Given the description of an element on the screen output the (x, y) to click on. 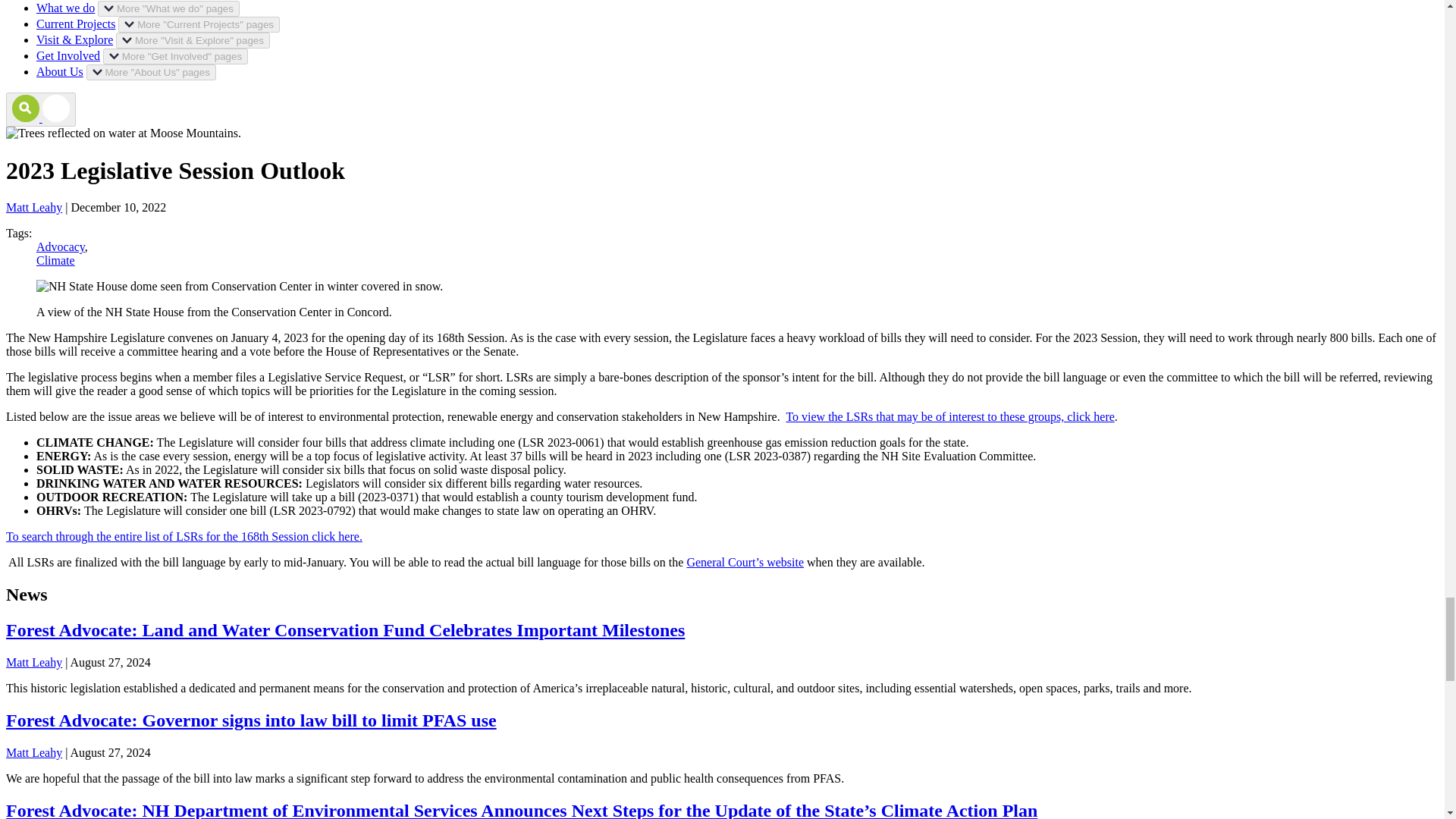
More "Get Involved" pages (175, 56)
More "Current Projects" pages (198, 24)
Get Involved (68, 55)
What we do (65, 7)
Open search (40, 109)
More "What we do" pages (168, 8)
Current Projects (75, 23)
